Given the description of an element on the screen output the (x, y) to click on. 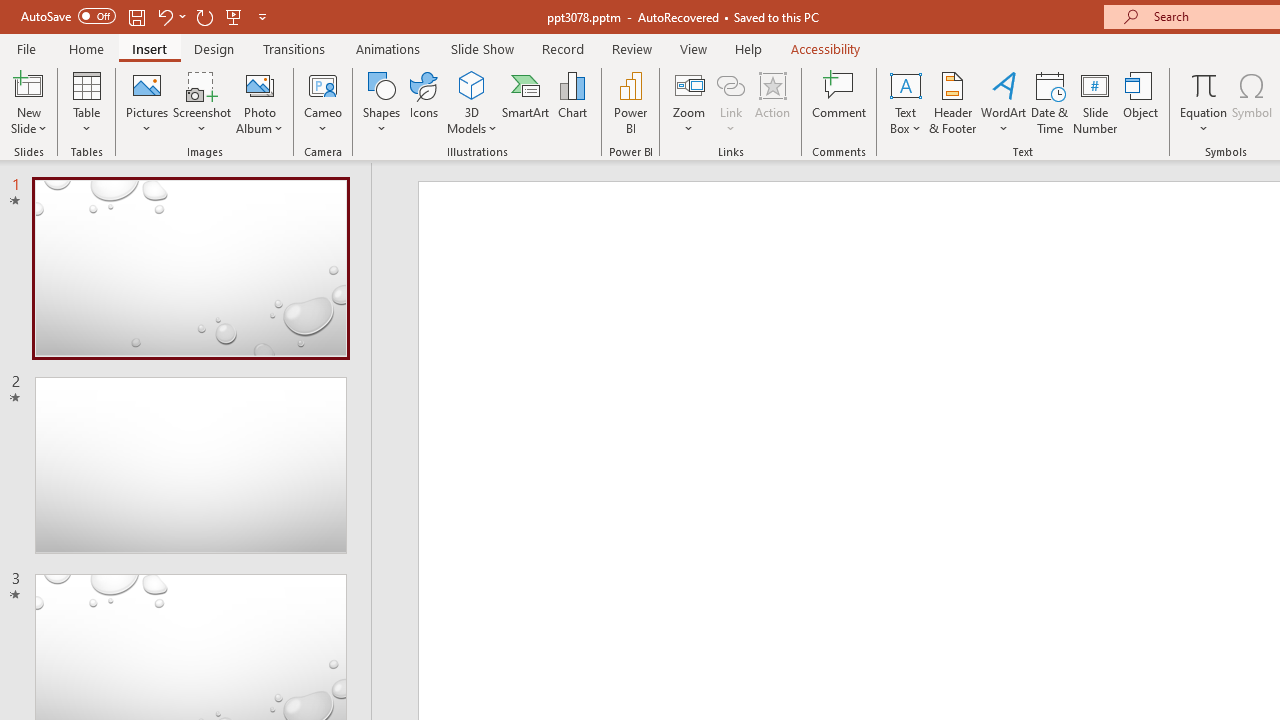
Equation (1203, 102)
Icons (424, 102)
Power BI (630, 102)
Screenshot (202, 102)
Symbol... (1252, 102)
